Given the description of an element on the screen output the (x, y) to click on. 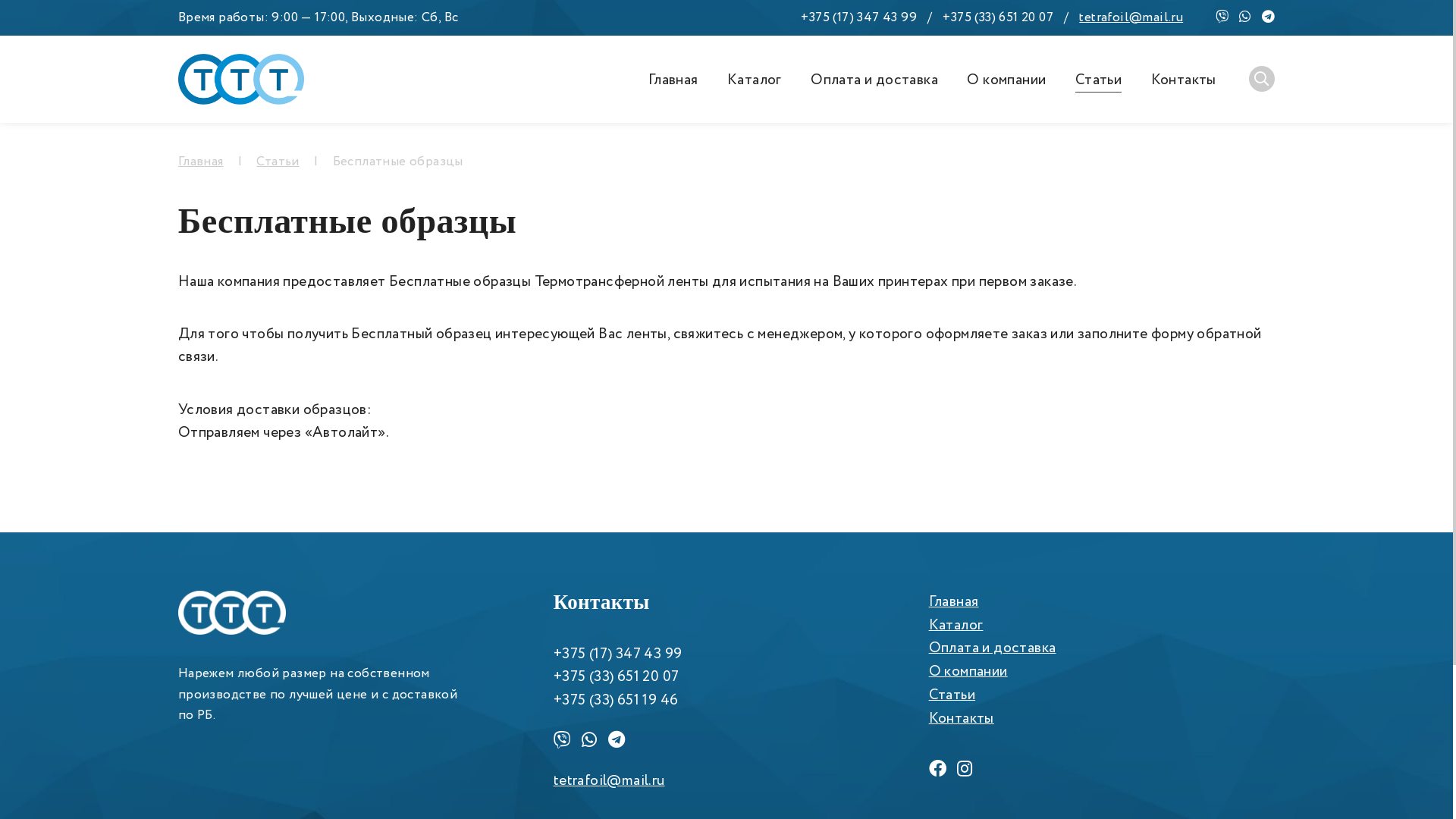
+375 (33) 651 20 07 Element type: text (616, 676)
+375 (17) 347 43 99 Element type: text (617, 654)
+375 (17) 347 43 99 Element type: text (858, 17)
tetrafoil@mail.ru Element type: text (609, 780)
+375 (33) 651 19 46 Element type: text (615, 700)
+375 (33) 651 20 07 Element type: text (997, 17)
tetrafoil@mail.ru Element type: text (1131, 17)
